Given the description of an element on the screen output the (x, y) to click on. 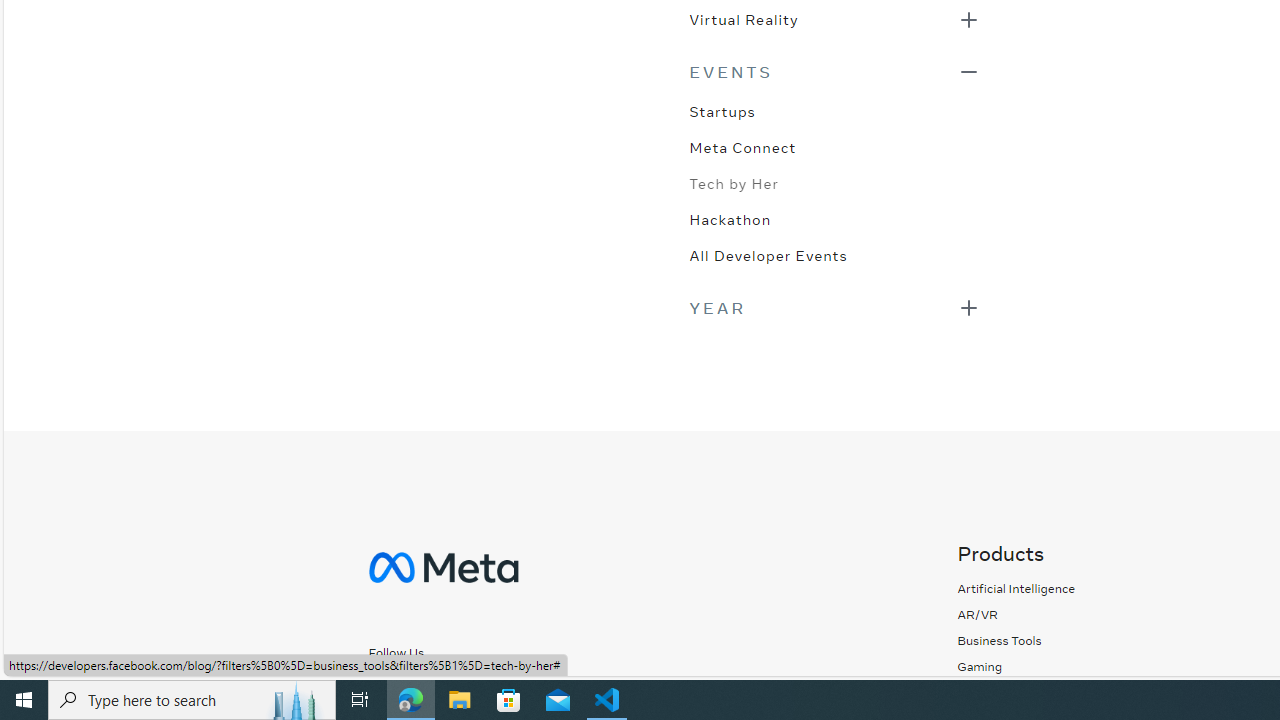
Follow us on YouTube (551, 688)
AR/VR (977, 614)
Startups (722, 109)
Business Tools (1016, 640)
Class: _8_jq (466, 687)
Gaming (1016, 666)
Class: _98ex (834, 261)
Follow us on LinkedIn (520, 688)
Business Tools (999, 640)
Follow us on YouTube (551, 687)
Class: _9890 _98ez (834, 307)
Class: _98ex _98ez (834, 25)
Follow us on LinkedIn (512, 687)
Artificial Intelligence (1016, 588)
